Given the description of an element on the screen output the (x, y) to click on. 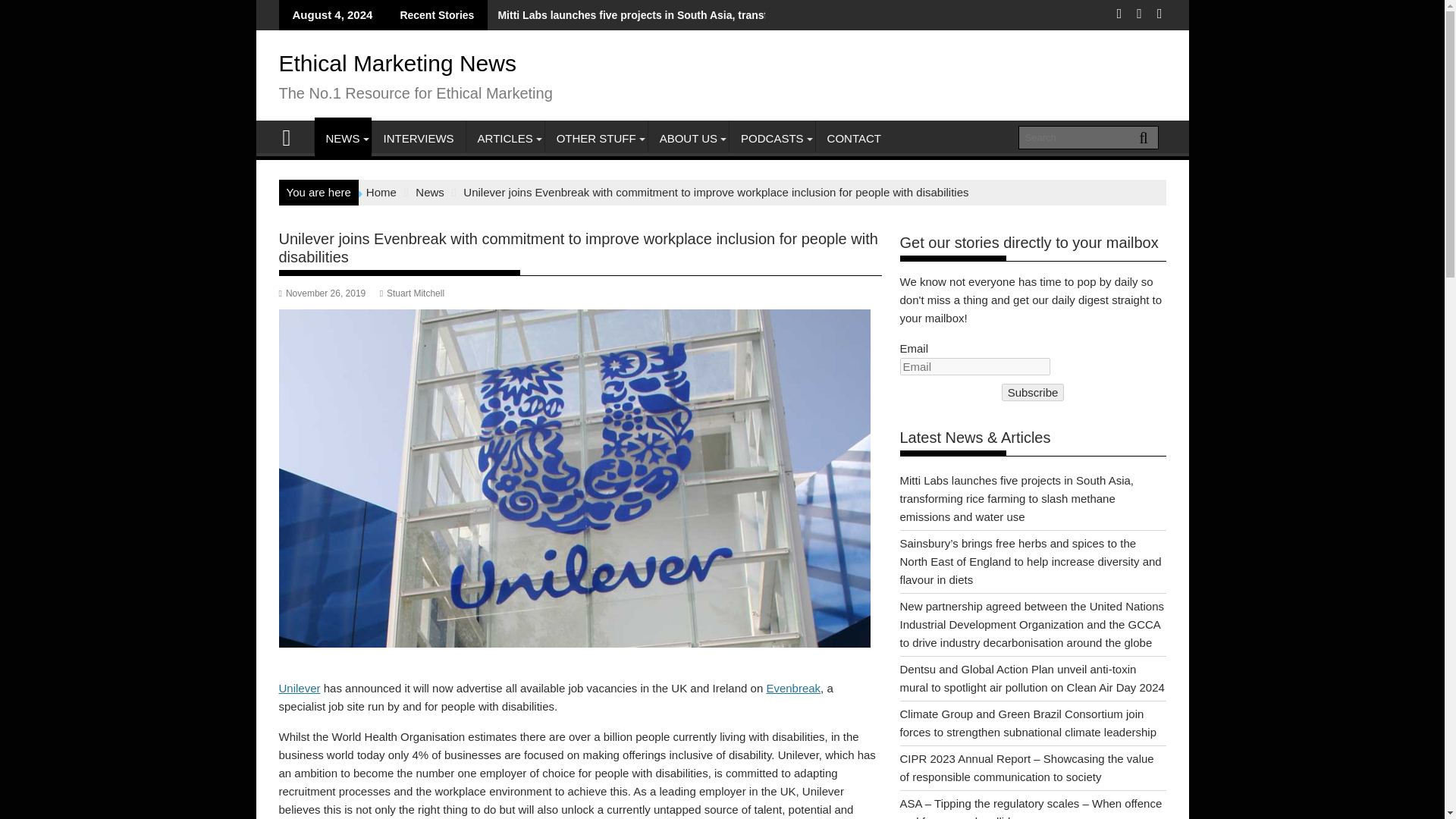
Ethical Marketing News (293, 136)
OTHER STUFF (595, 138)
INTERVIEWS (417, 138)
PODCASTS (772, 138)
Ethical Marketing News (397, 63)
Subscribe (1032, 392)
CONTACT (853, 138)
ARTICLES (504, 138)
NEWS (342, 138)
ABOUT US (688, 138)
